Given the description of an element on the screen output the (x, y) to click on. 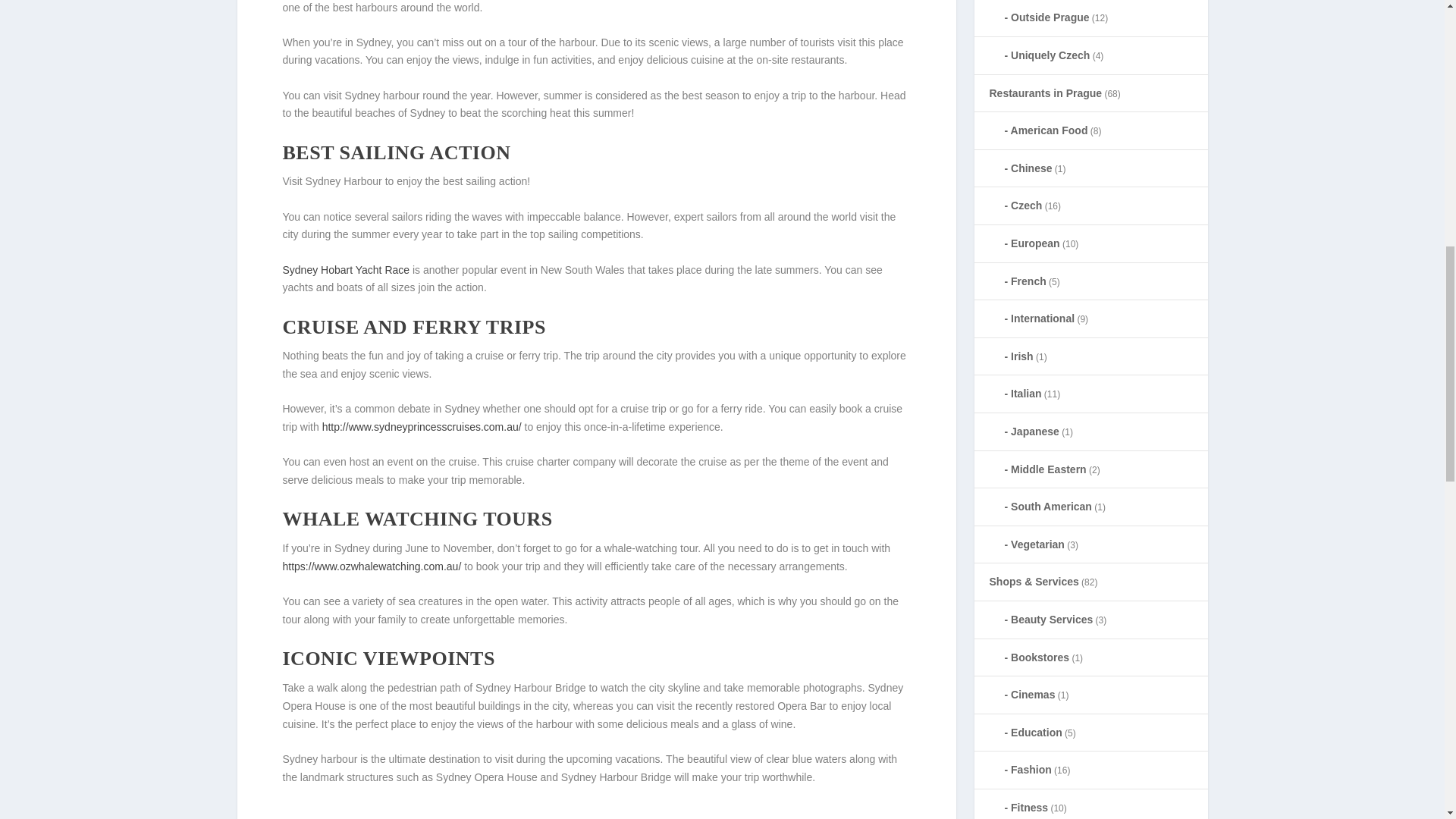
Sydney Hobart Yacht Race (345, 269)
